Given the description of an element on the screen output the (x, y) to click on. 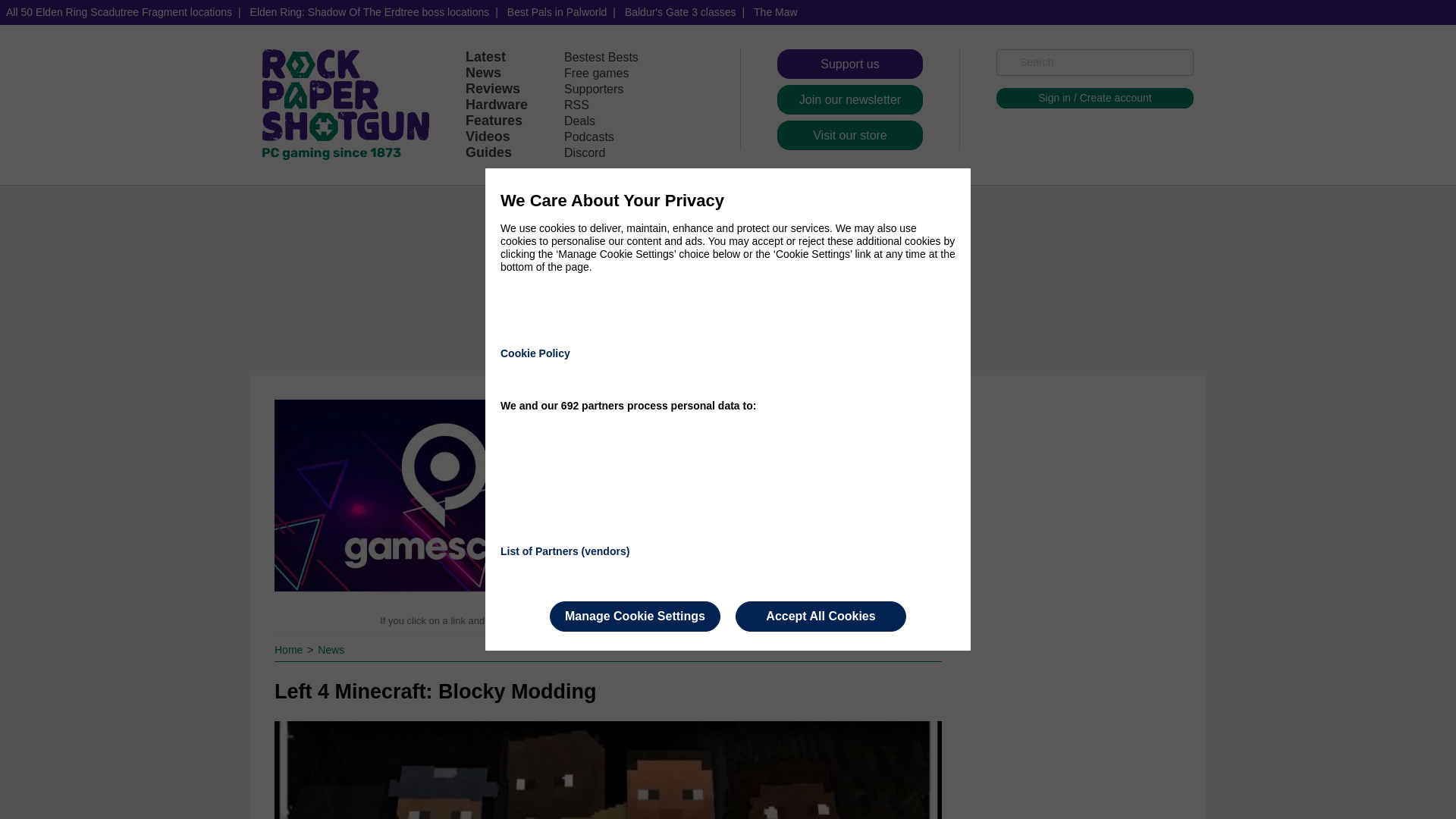
Borderlands 4 is coming next year (737, 509)
Bestest Bests (601, 56)
Supporters (593, 88)
Deals (579, 120)
All 50 Elden Ring Scadutree Fragment locations (119, 12)
RSS (576, 104)
Podcasts (589, 136)
Visit our store (850, 134)
Videos (488, 136)
News (482, 72)
